Given the description of an element on the screen output the (x, y) to click on. 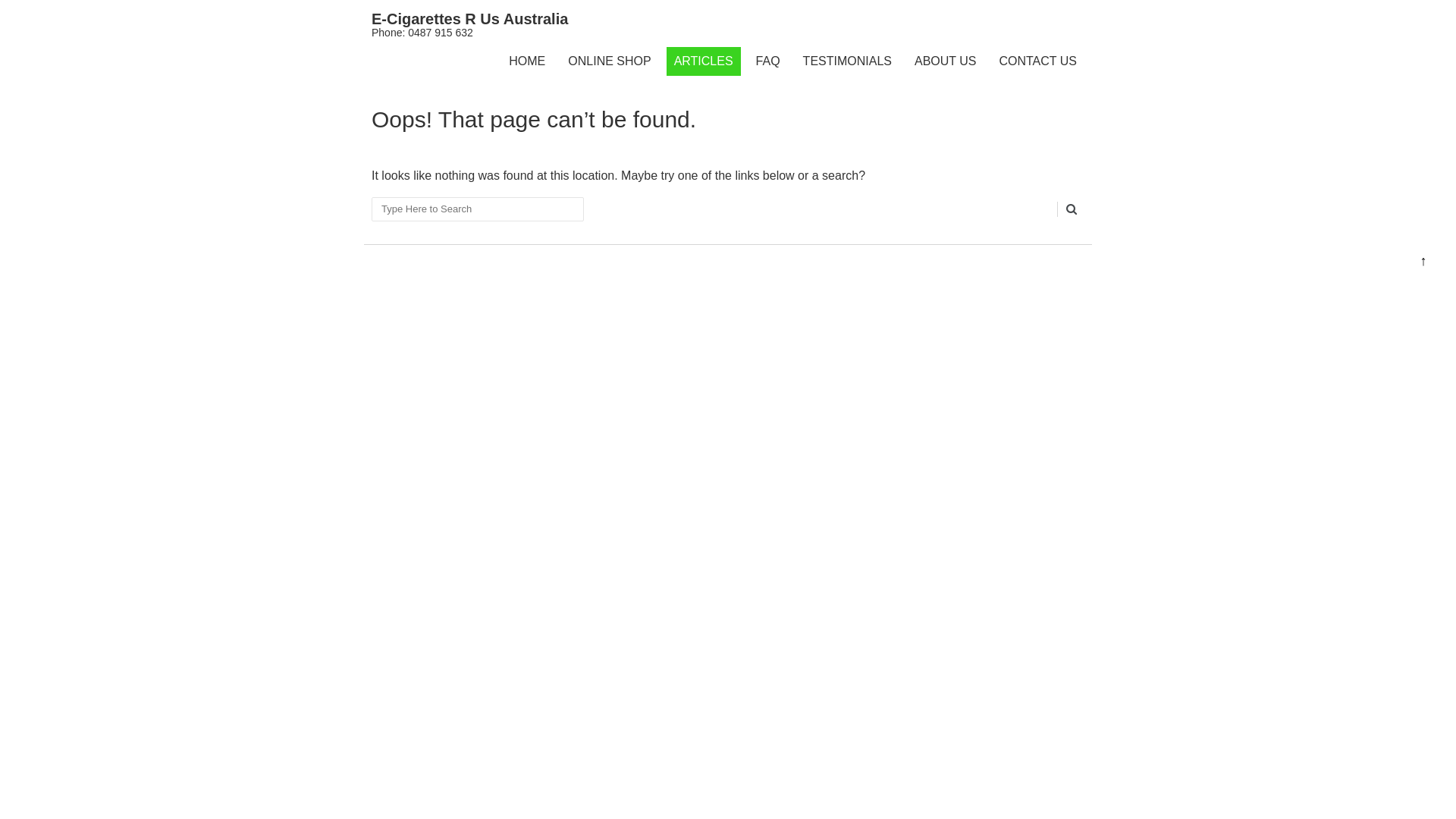
HOME Element type: text (526, 61)
TESTIMONIALS Element type: text (847, 61)
E-Cigarettes R Us Australia
Phone: 0487 915 632 Element type: text (469, 25)
CONTACT US Element type: text (1037, 61)
FAQ Element type: text (767, 61)
ARTICLES Element type: text (703, 61)
Search Element type: text (1070, 209)
ONLINE SHOP Element type: text (609, 61)
ABOUT US Element type: text (945, 61)
